Given the description of an element on the screen output the (x, y) to click on. 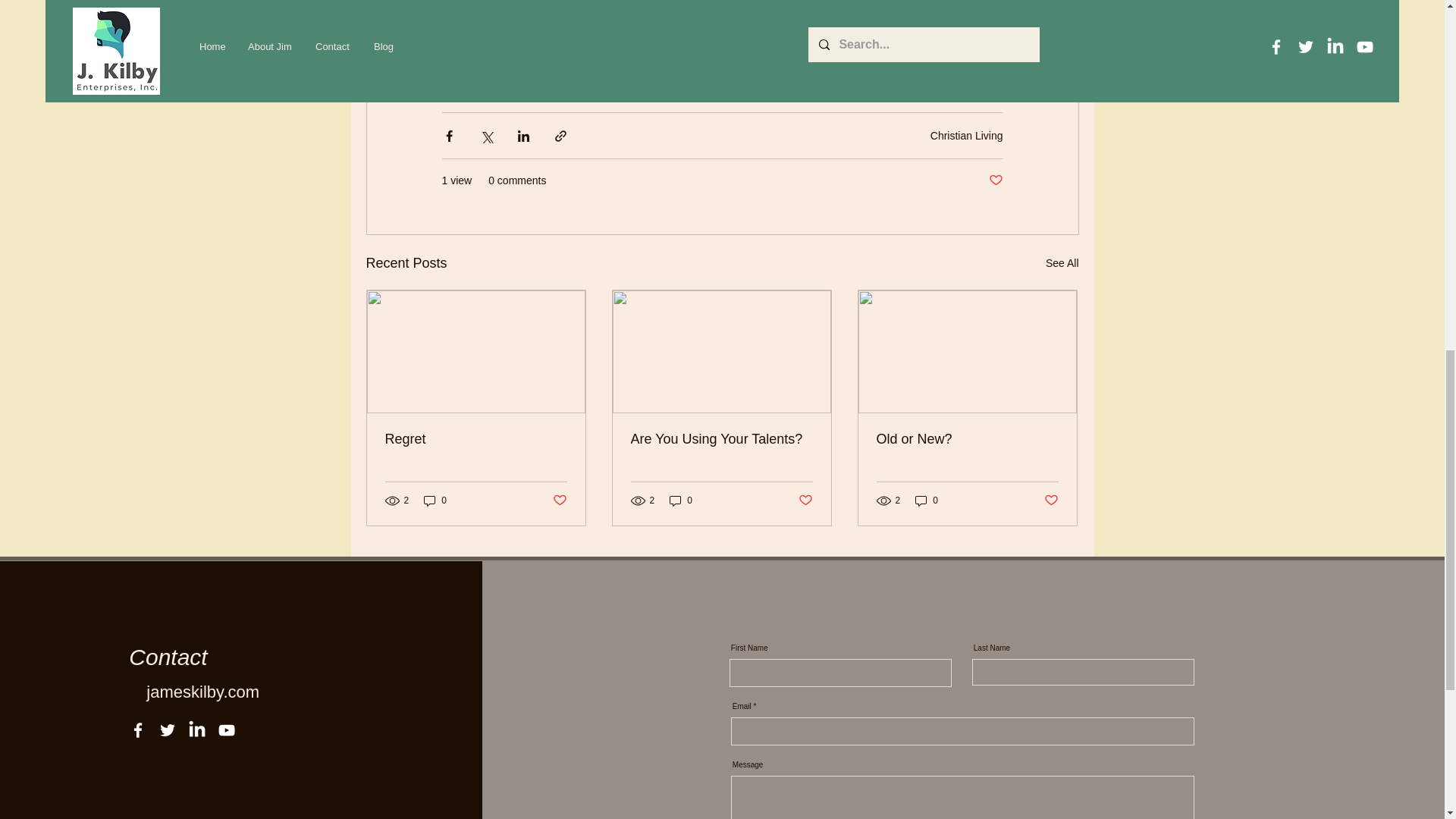
0 (681, 499)
Tweet (459, 63)
Post not marked as liked (558, 500)
See All (1061, 263)
0 (435, 499)
Regret (476, 439)
Are You Using Your Talents? (721, 439)
Post not marked as liked (995, 180)
Christian Living (966, 134)
